Given the description of an element on the screen output the (x, y) to click on. 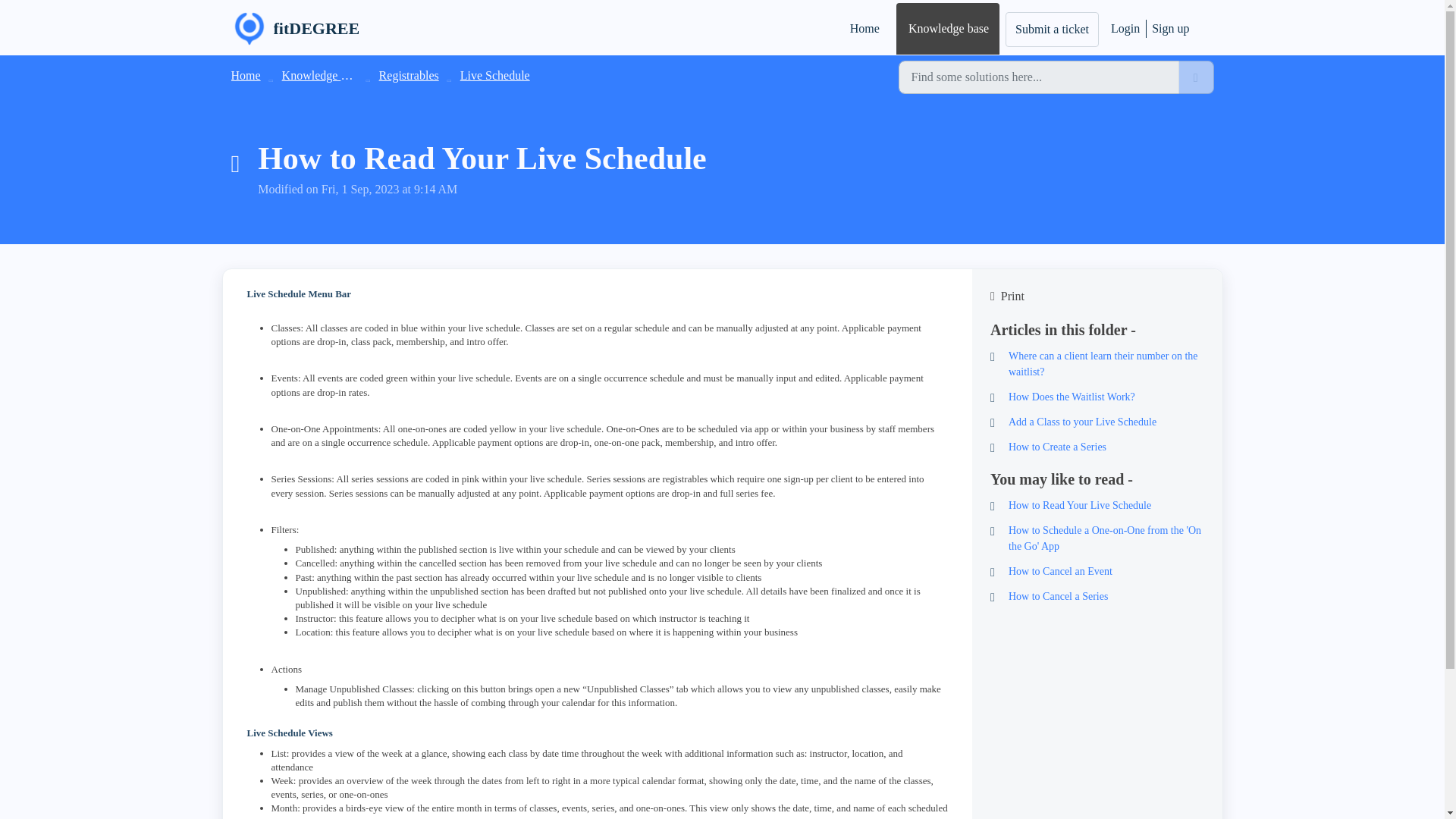
fitDEGREE (316, 28)
Live Schedule (494, 74)
Knowledge base (322, 74)
Knowledge base (947, 28)
Home (245, 74)
How Does the Waitlist Work? (1097, 396)
Print (1097, 296)
How to Cancel a Series (1097, 596)
fitDEGREE (294, 28)
Registrables (408, 74)
